Given the description of an element on the screen output the (x, y) to click on. 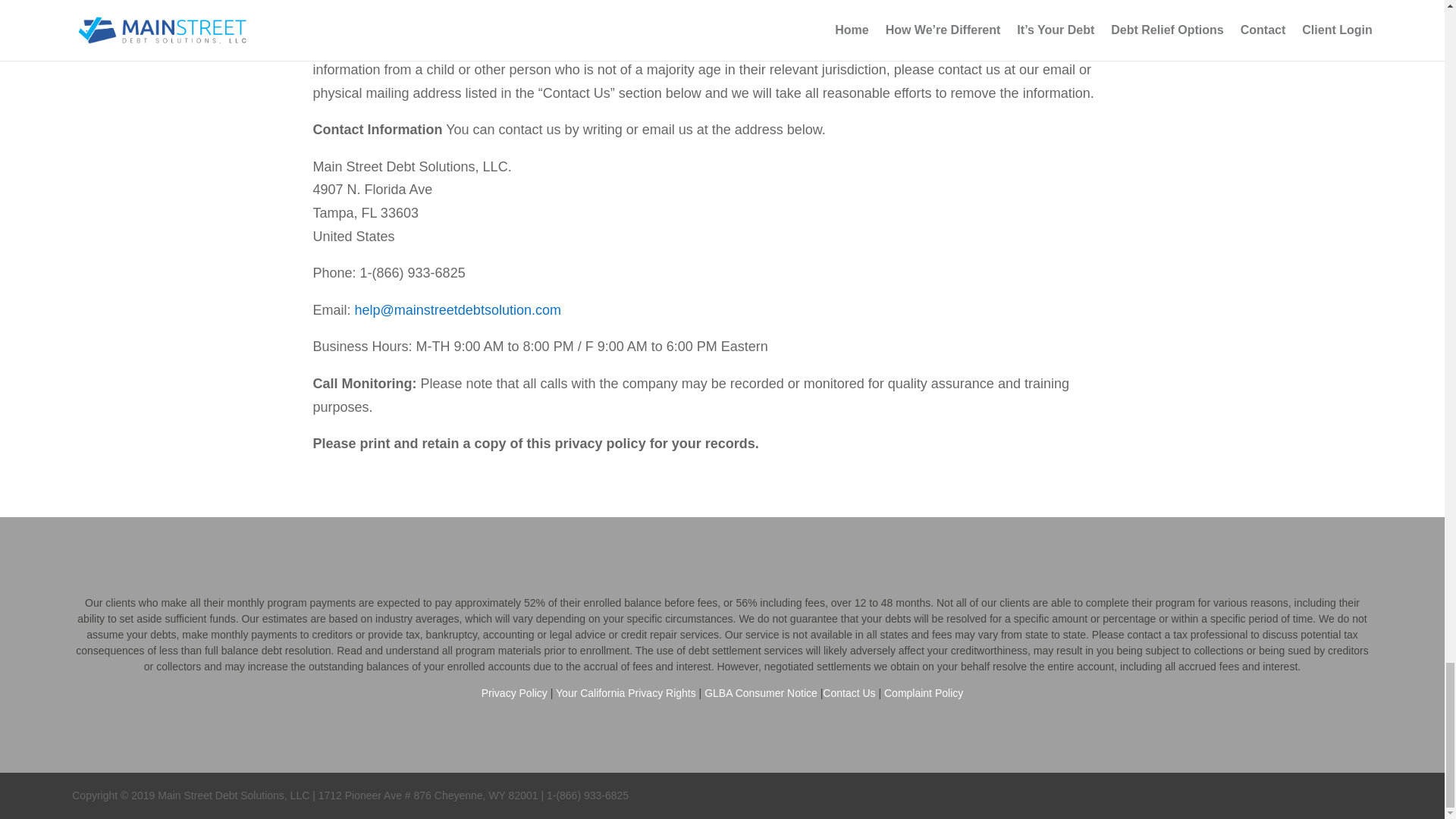
Privacy Policy (514, 693)
Your California Privacy Rights (625, 693)
GLBA Consumer Notice (760, 693)
Complaint Policy (922, 693)
Contact Us (848, 693)
